Given the description of an element on the screen output the (x, y) to click on. 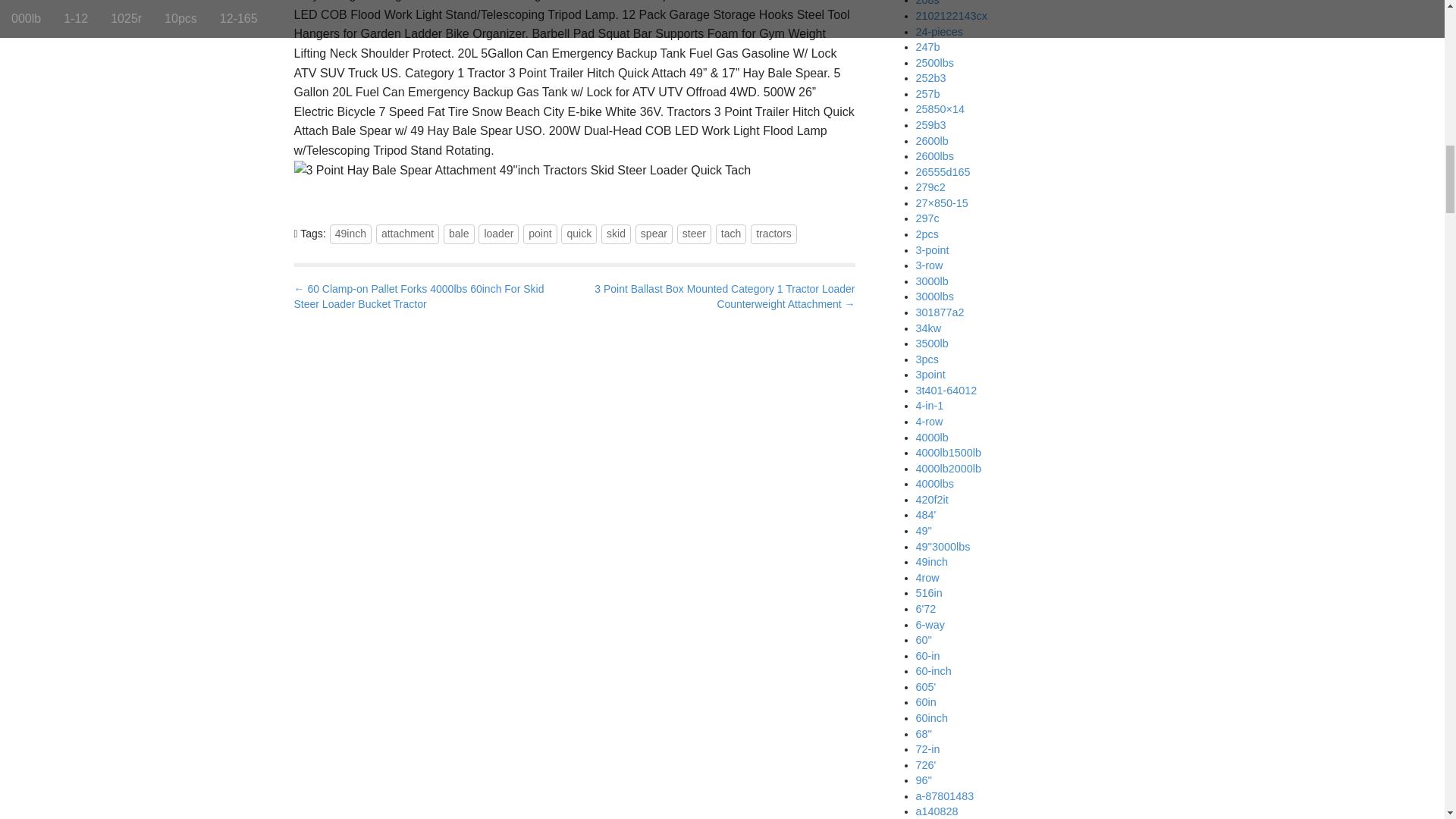
tach (730, 234)
49inch (350, 234)
skid (615, 234)
steer (694, 234)
quick (578, 234)
attachment (407, 234)
spear (653, 234)
bale (459, 234)
point (539, 234)
loader (498, 234)
tractors (773, 234)
